Given the description of an element on the screen output the (x, y) to click on. 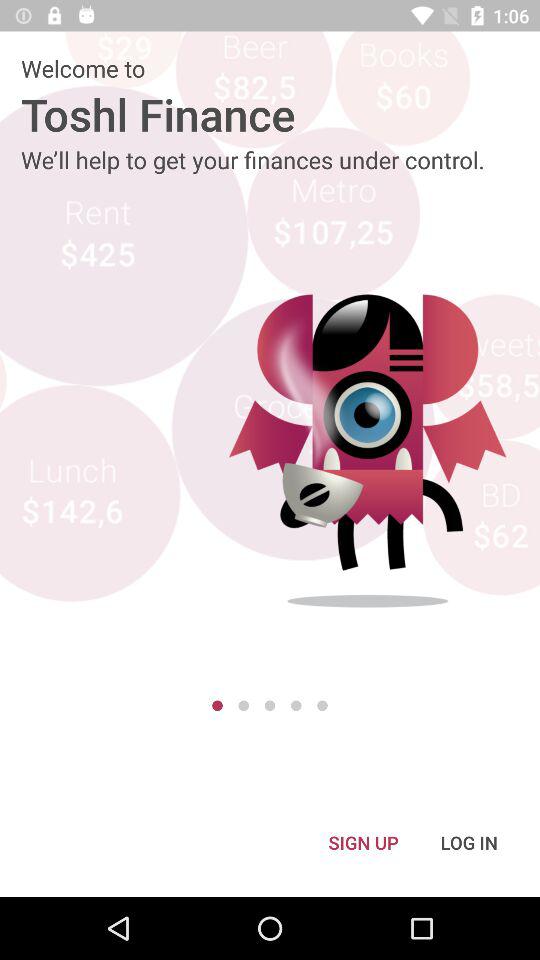
turn on item next to sign up icon (469, 842)
